Given the description of an element on the screen output the (x, y) to click on. 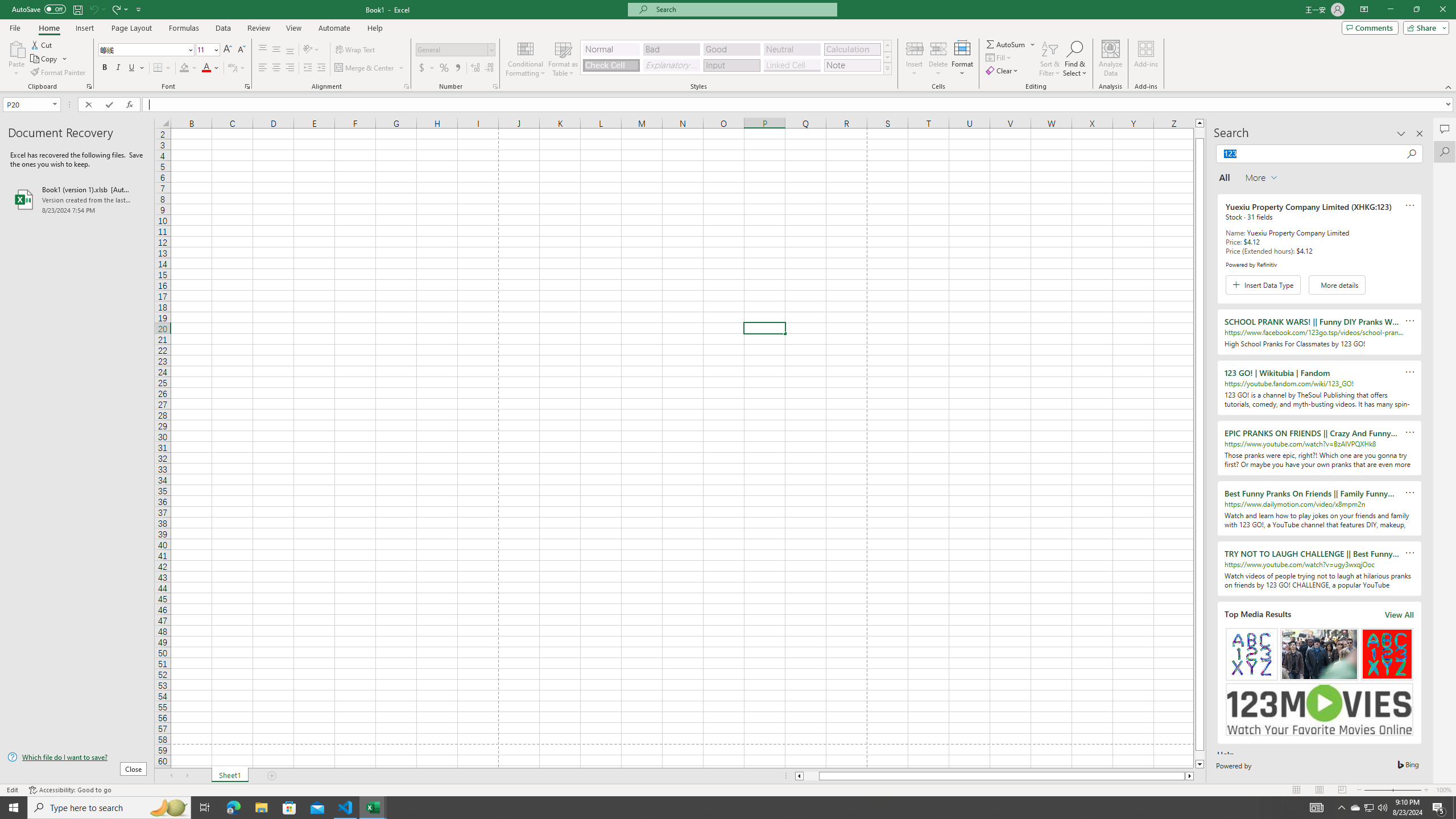
Paste (16, 58)
Sort & Filter (1049, 58)
Font Size (204, 49)
Show Phonetic Field (236, 67)
AutomationID: CellStylesGallery (736, 57)
